Given the description of an element on the screen output the (x, y) to click on. 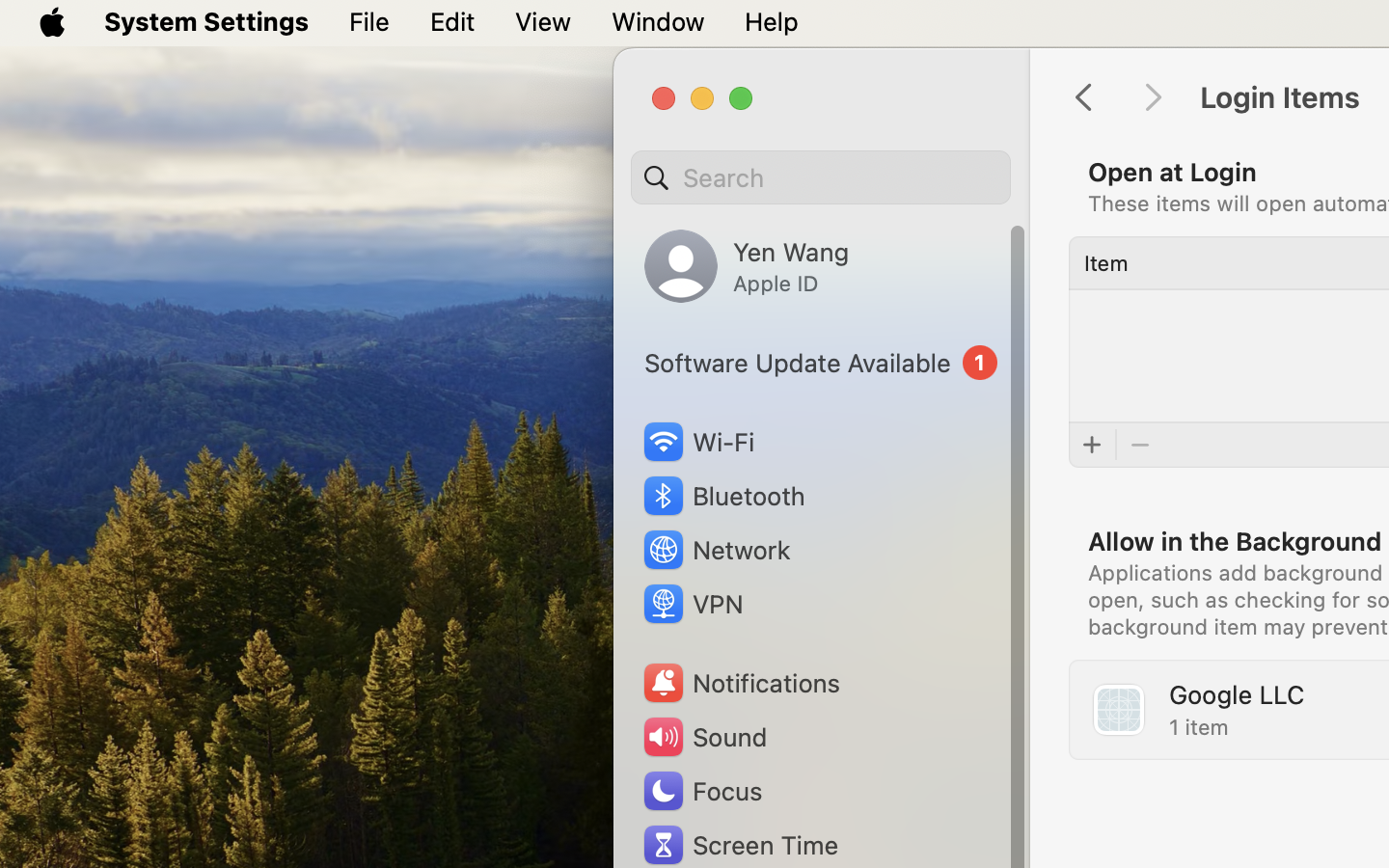
Google LLC Element type: AXStaticText (1236, 693)
Screen Time Element type: AXStaticText (739, 844)
